Given the description of an element on the screen output the (x, y) to click on. 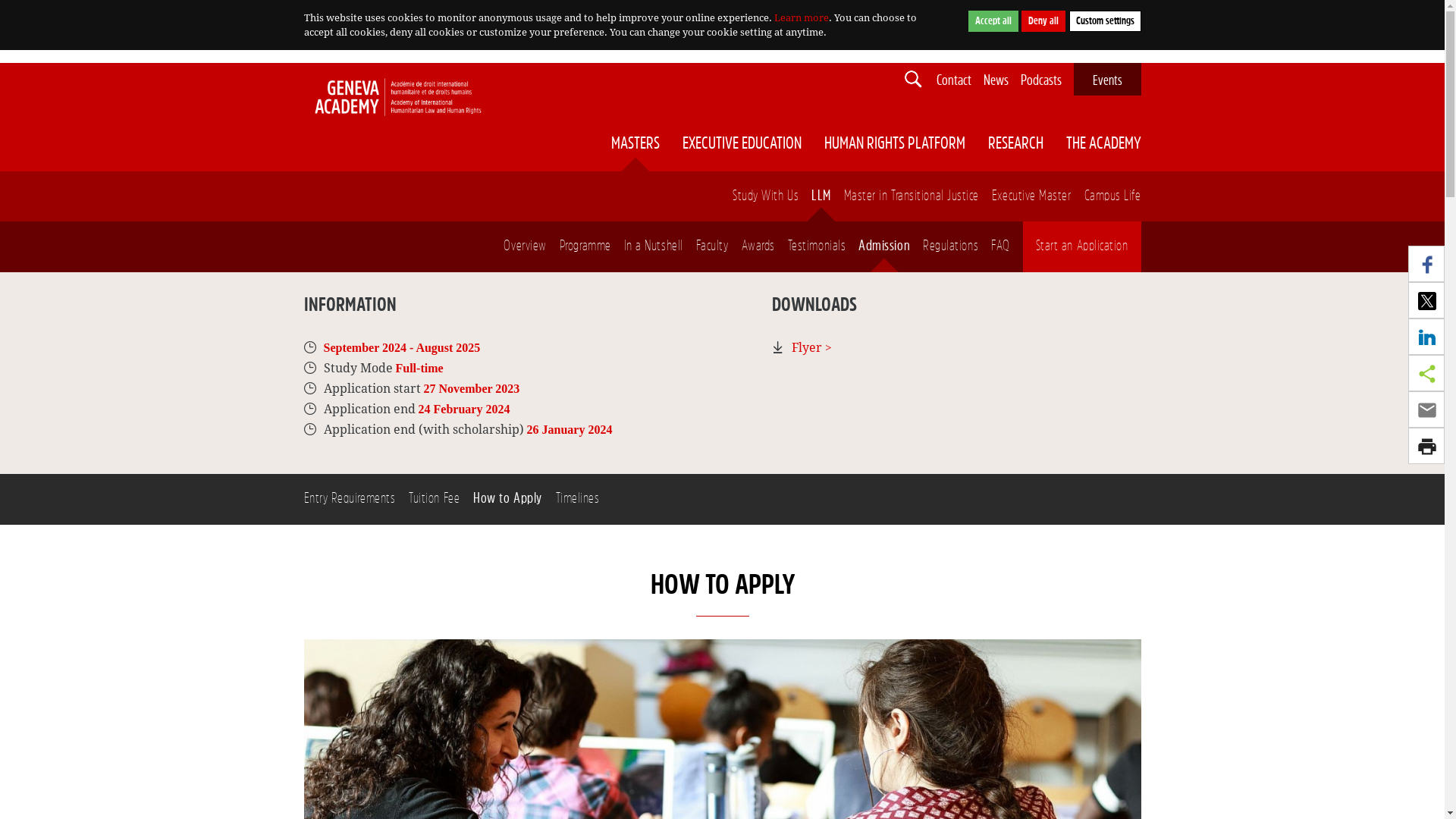
LLM Element type: text (821, 194)
MASTERS Element type: text (635, 143)
Regulations Element type: text (950, 245)
Master in Transitional Justice Element type: text (911, 194)
Programme Element type: text (585, 245)
News Element type: text (994, 80)
Learn more Element type: text (800, 17)
Campus Life Element type: text (1112, 194)
Flyer > Element type: text (811, 347)
Study With Us Element type: text (765, 194)
Deny all Element type: text (1043, 20)
Timelines Element type: text (577, 498)
Custom settings Element type: text (1105, 20)
Contact Element type: text (952, 80)
In a Nutshell Element type: text (653, 245)
Executive Master Element type: text (1031, 194)
Entry Requirements Element type: text (349, 498)
Faculty Element type: text (712, 245)
HUMAN RIGHTS PLATFORM Element type: text (893, 143)
Awards Element type: text (758, 245)
FAQ Element type: text (1000, 245)
Start an Application Element type: text (1081, 245)
THE ACADEMY Element type: text (1103, 143)
Podcasts Element type: text (1040, 80)
EXECUTIVE EDUCATION Element type: text (741, 143)
Overview Element type: text (524, 245)
Admission Element type: text (884, 245)
Events Element type: text (1106, 80)
Testimonials Element type: text (816, 245)
RESEARCH Element type: text (1014, 143)
Accept all Element type: text (993, 20)
How to Apply Element type: text (507, 498)
Tuition Fee Element type: text (433, 498)
